Given the description of an element on the screen output the (x, y) to click on. 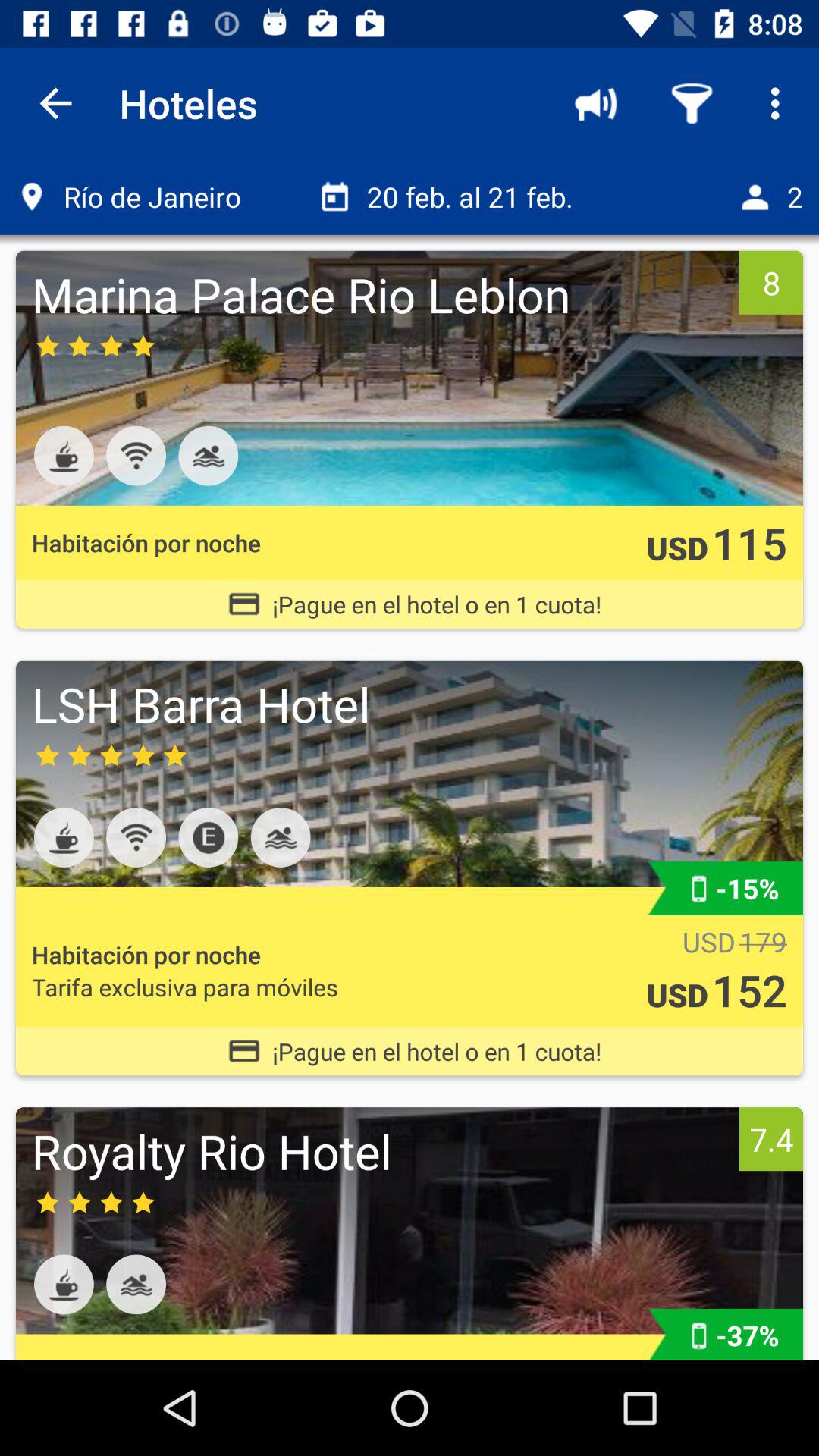
select the app next to hoteles app (55, 103)
